Given the description of an element on the screen output the (x, y) to click on. 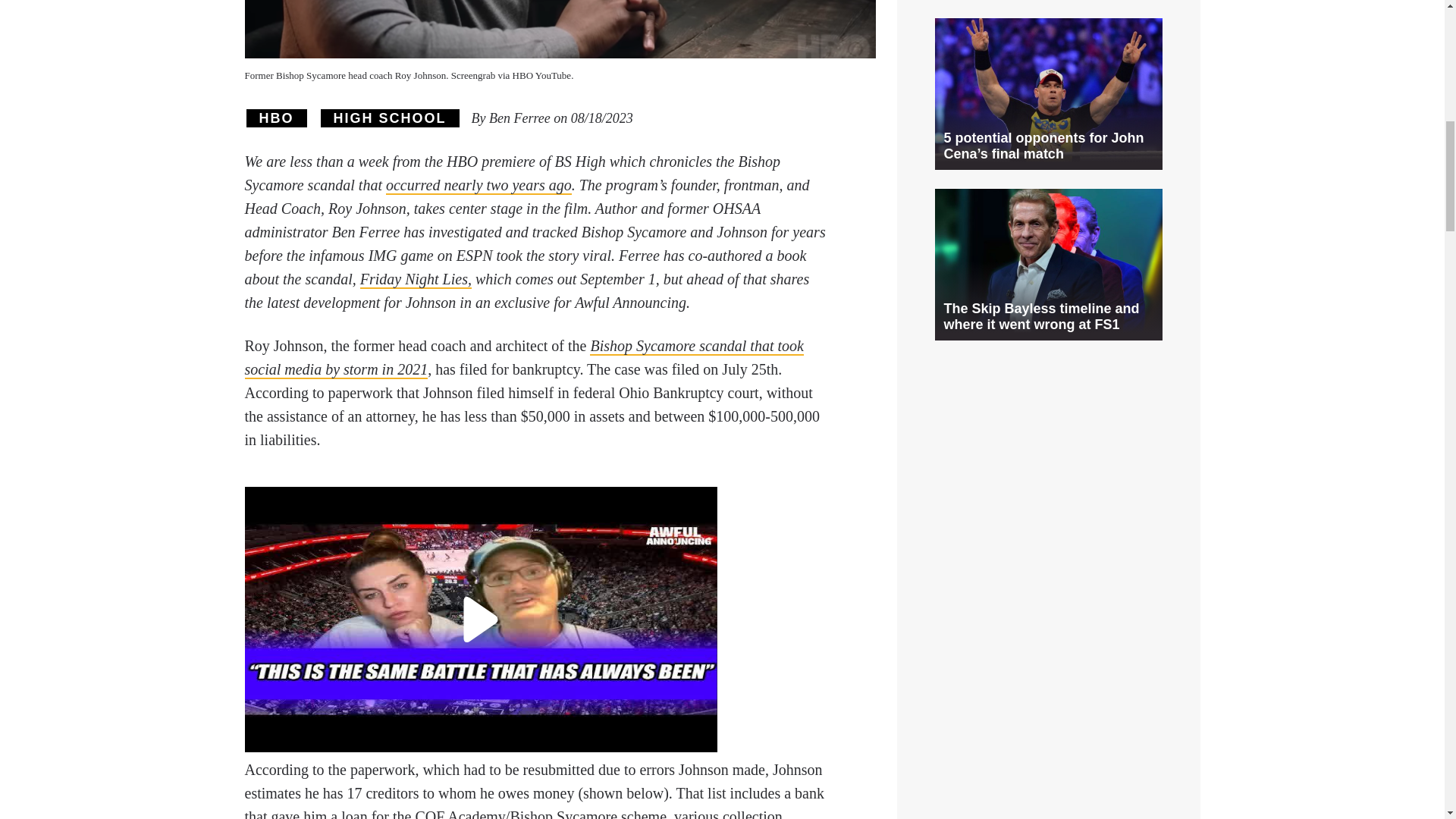
View all posts in High School (389, 117)
View all posts in HBO (275, 117)
